Given the description of an element on the screen output the (x, y) to click on. 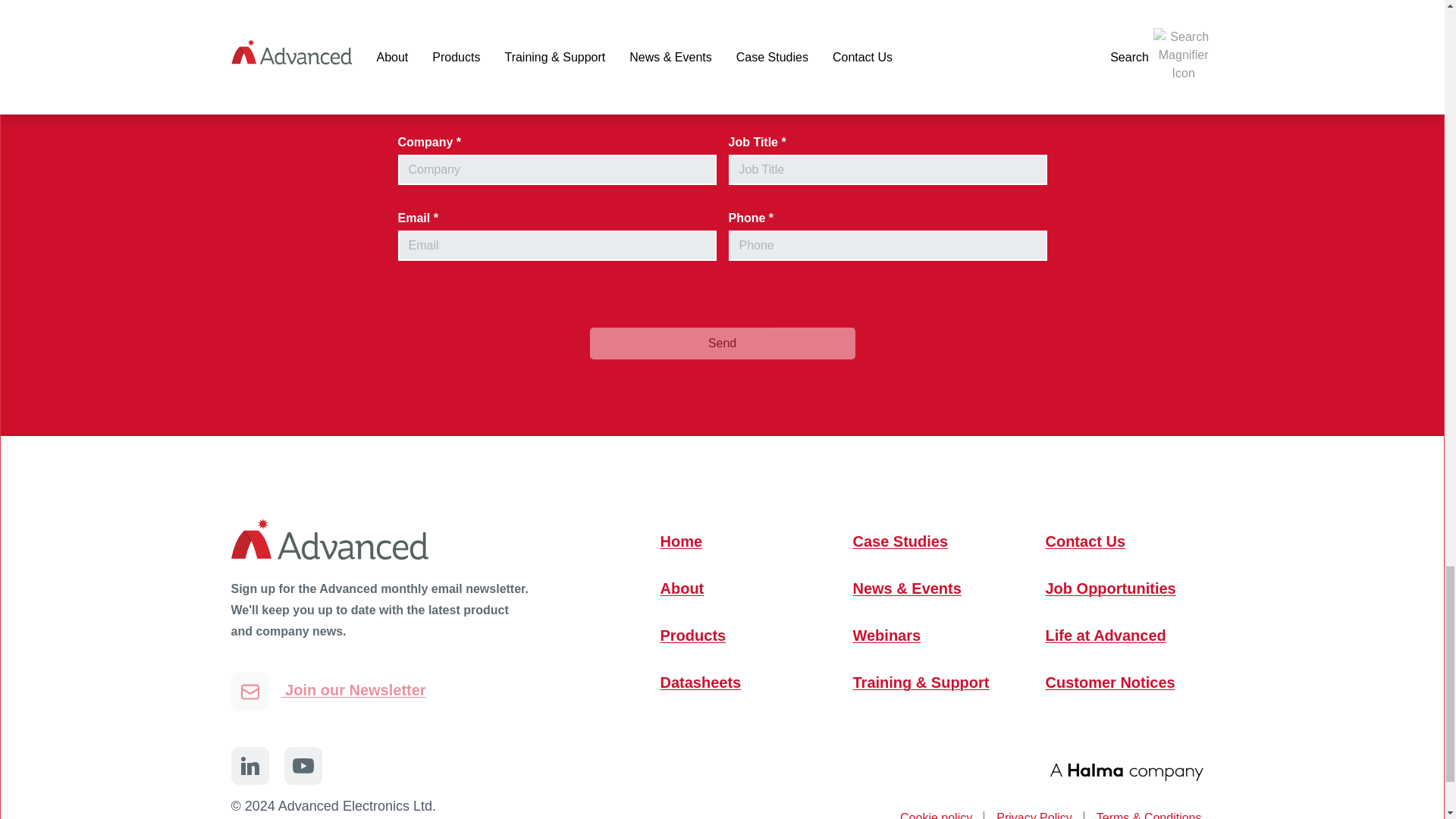
About (737, 588)
Send (722, 343)
Contact Us (1122, 541)
Job Opportunities (1122, 588)
Send (722, 343)
Home (737, 541)
Products (737, 635)
Customer Notices (1122, 682)
Datasheets (737, 682)
Join our Newsletter (327, 691)
